Given the description of an element on the screen output the (x, y) to click on. 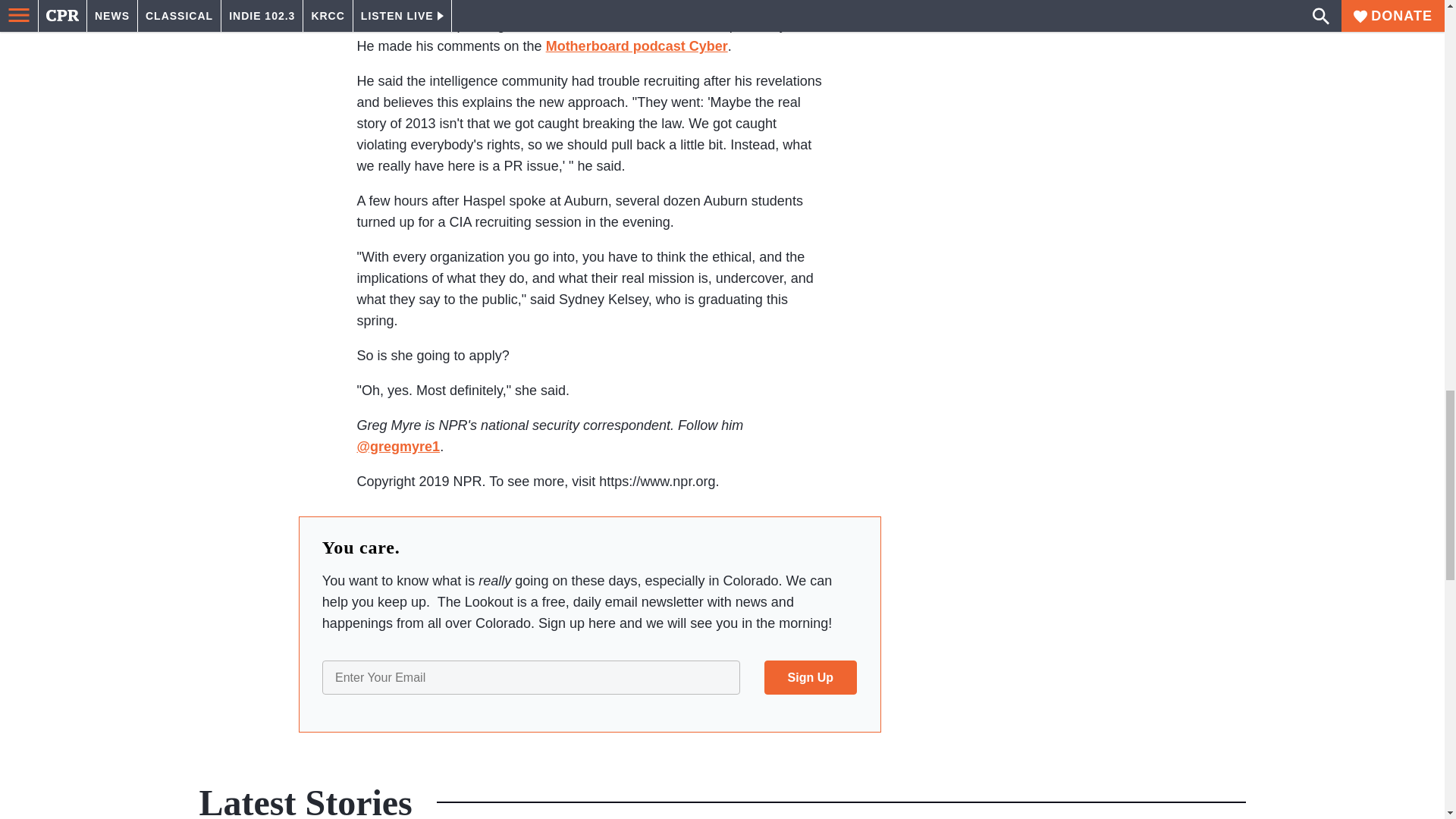
newsArticleSignup (589, 676)
